Given the description of an element on the screen output the (x, y) to click on. 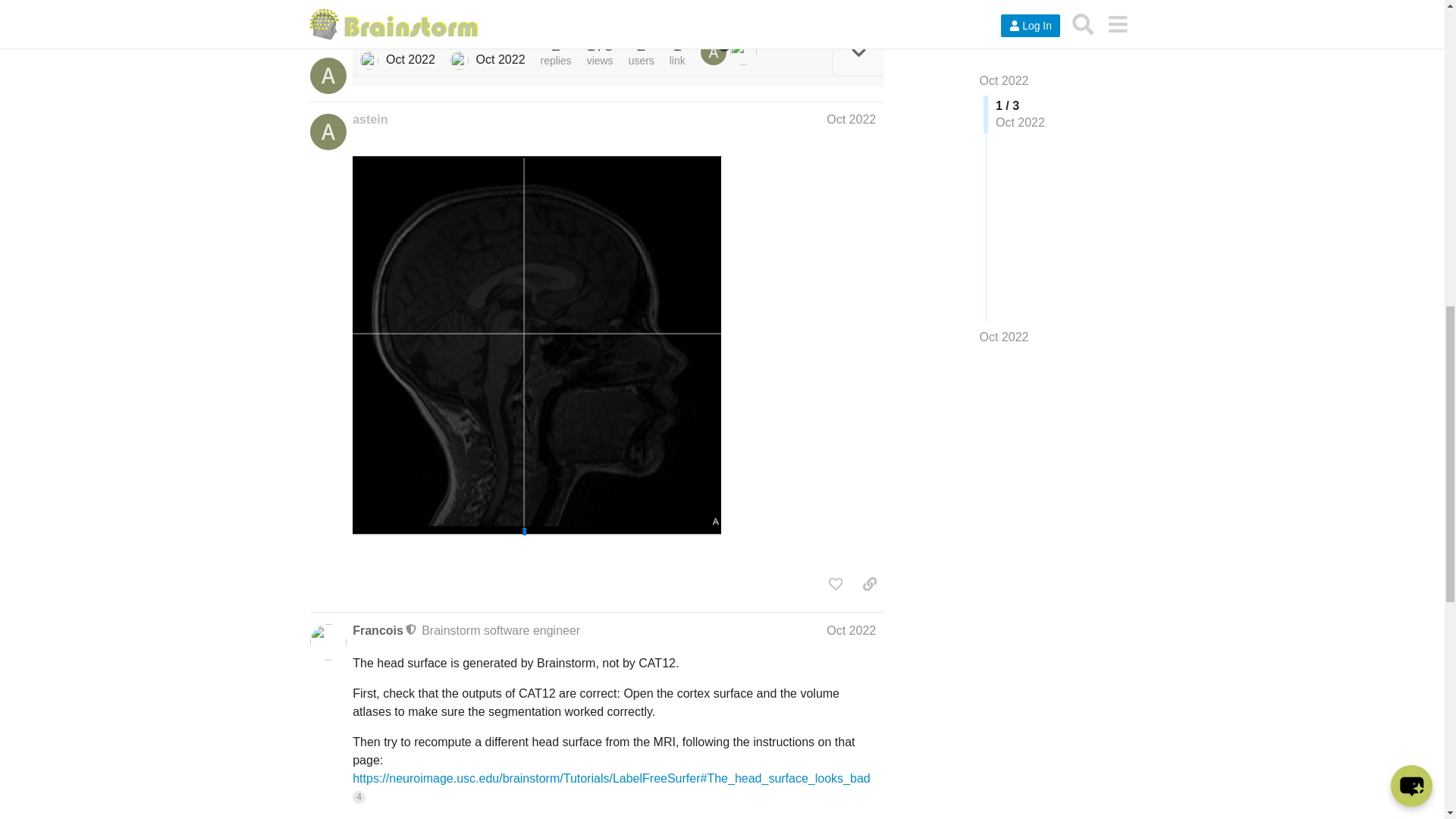
Francois (377, 630)
Francois (458, 60)
astein (368, 60)
Oct 2022 (851, 119)
copy a link to this post to clipboard (869, 6)
Oct 2022 (851, 630)
Oct 27, 2022 4:39 pm (410, 59)
like this post (835, 6)
astein (369, 119)
last reply (487, 41)
expand topic details (857, 52)
2 (715, 52)
